Given the description of an element on the screen output the (x, y) to click on. 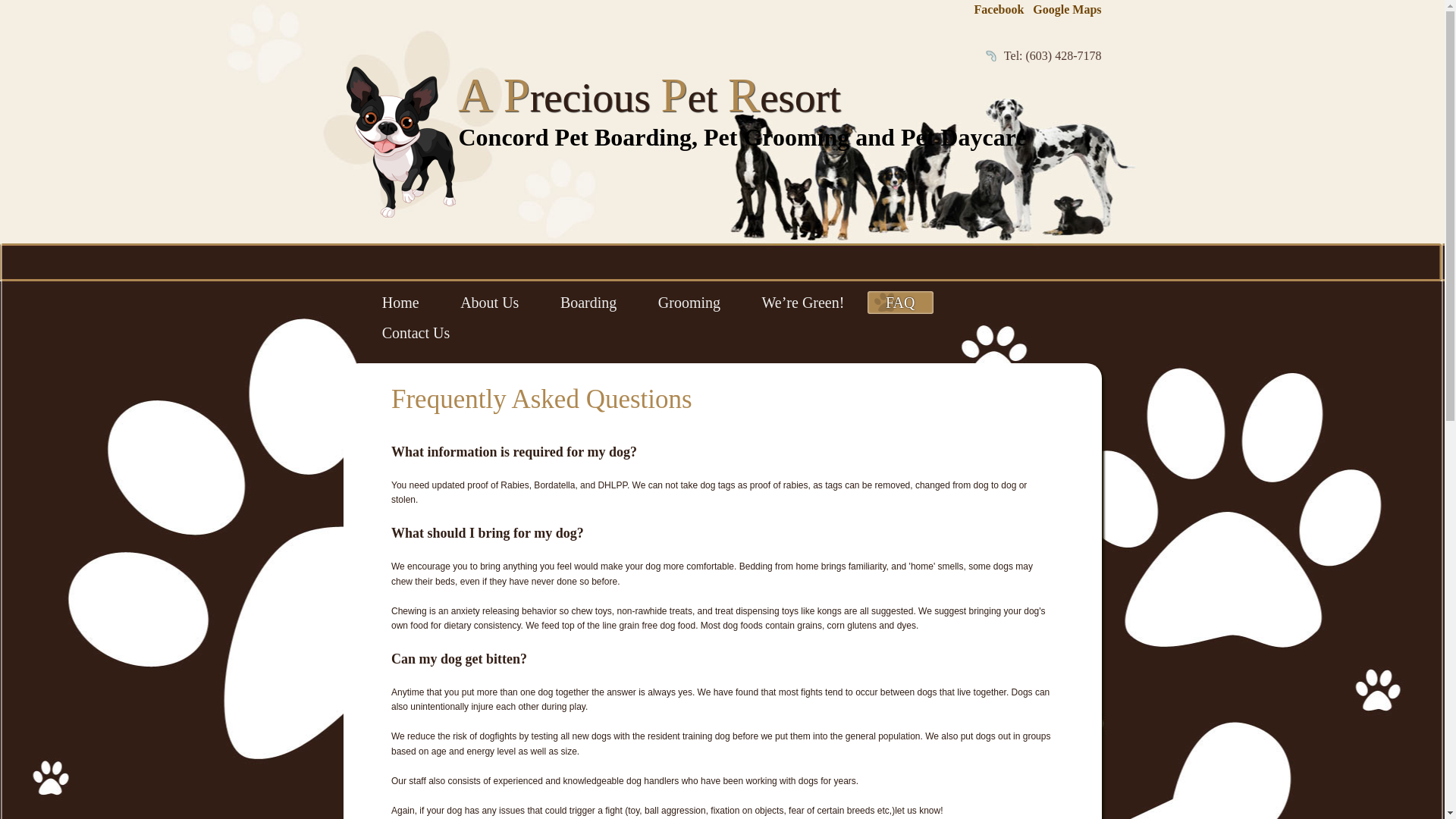
Facebook (998, 9)
Google Maps (1066, 9)
FAQ (900, 302)
Boarding (587, 302)
Home (401, 302)
A Precious Pet Resort (649, 97)
Grooming (689, 302)
Contact Us (416, 332)
A Precious Pet Resort (649, 97)
About Us (489, 302)
